Given the description of an element on the screen output the (x, y) to click on. 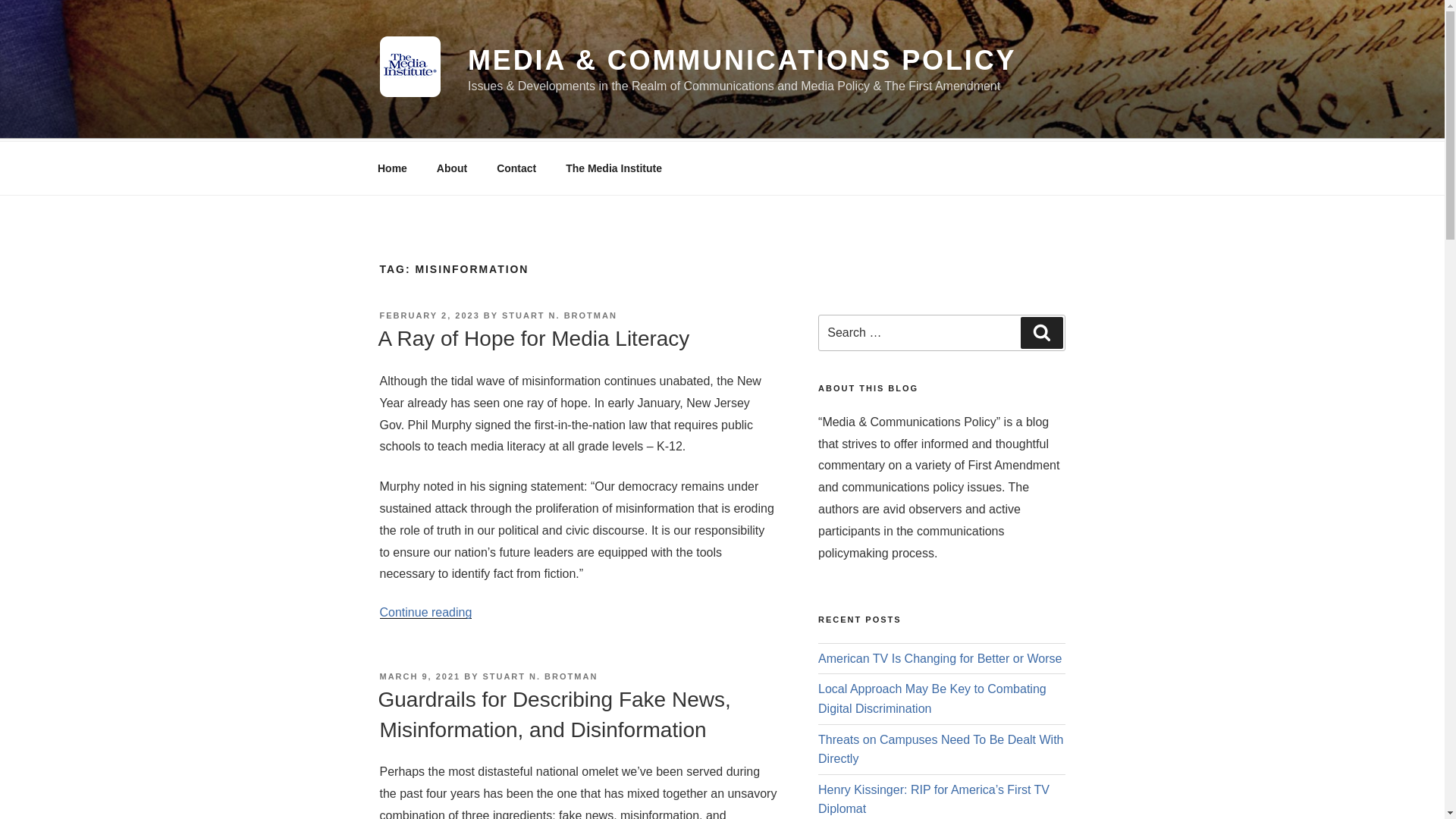
American TV Is Changing for Better or Worse (939, 658)
MARCH 9, 2021 (419, 675)
The Media Institute (614, 168)
A Ray of Hope for Media Literacy (532, 338)
Home (392, 168)
FEBRUARY 2, 2023 (428, 315)
Contact (516, 168)
Threats on Campuses Need To Be Dealt With Directly (940, 749)
Search (1041, 332)
About (451, 168)
